Given the description of an element on the screen output the (x, y) to click on. 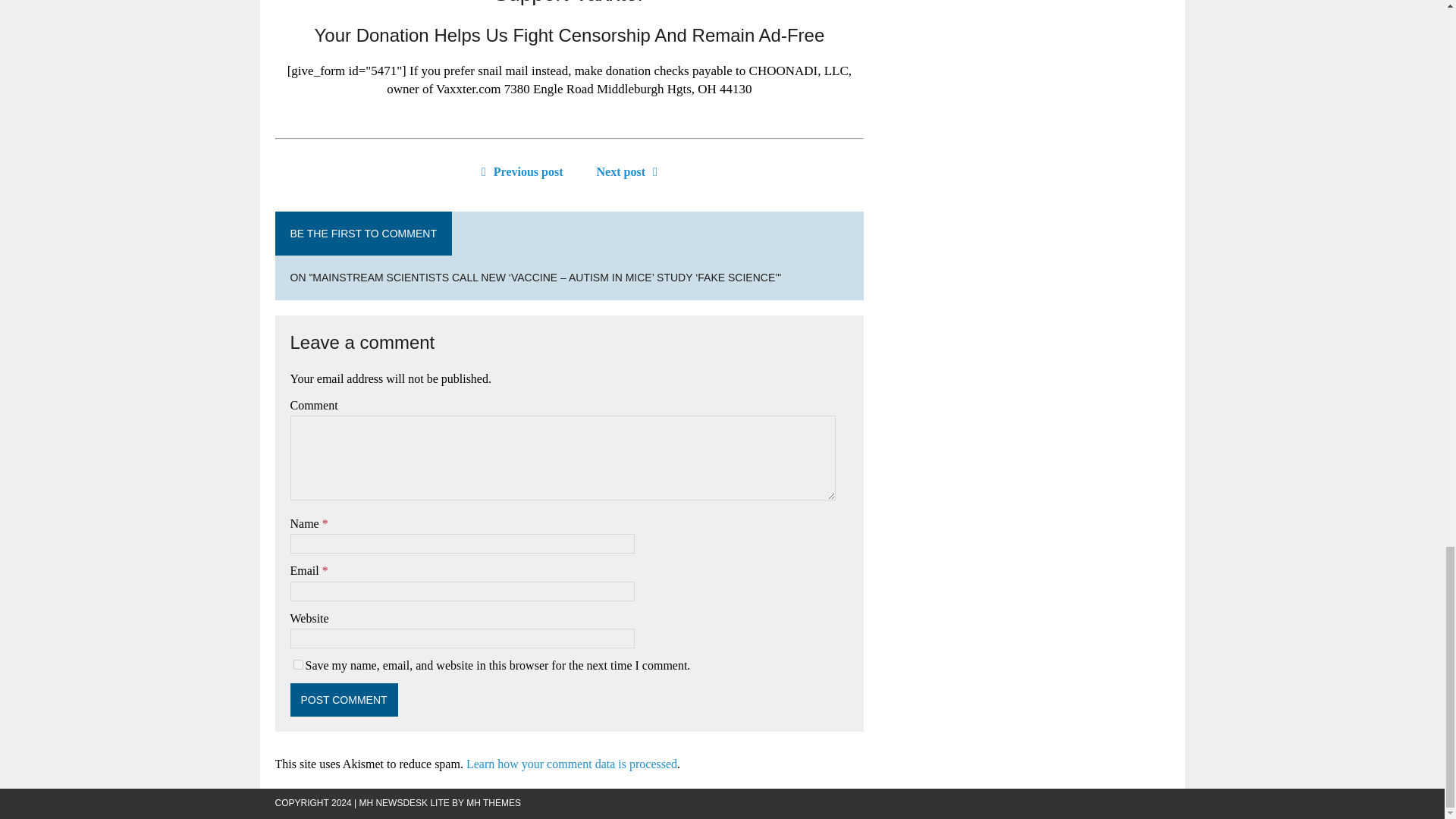
Post Comment (343, 699)
Next post (630, 171)
Post Comment (343, 699)
Previous post (518, 171)
yes (297, 664)
MH THEMES (493, 802)
Learn how your comment data is processed (571, 763)
